Given the description of an element on the screen output the (x, y) to click on. 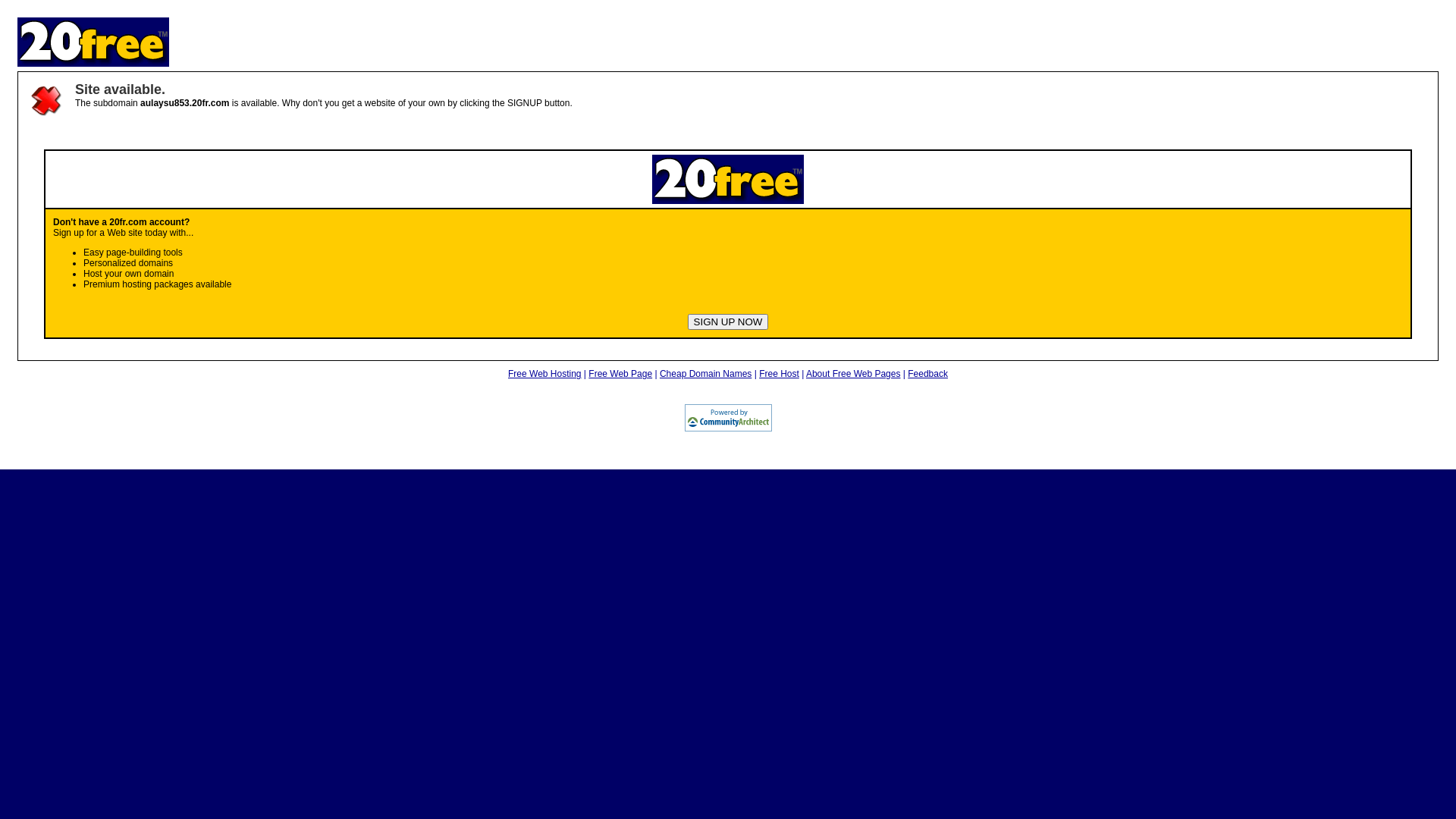
Free Host Element type: text (779, 373)
Feedback Element type: text (927, 373)
About Free Web Pages Element type: text (853, 373)
Free Web Page Element type: text (620, 373)
Free Web Hosting Element type: text (544, 373)
Cheap Domain Names Element type: text (705, 373)
SIGN UP NOW Element type: text (727, 321)
